Given the description of an element on the screen output the (x, y) to click on. 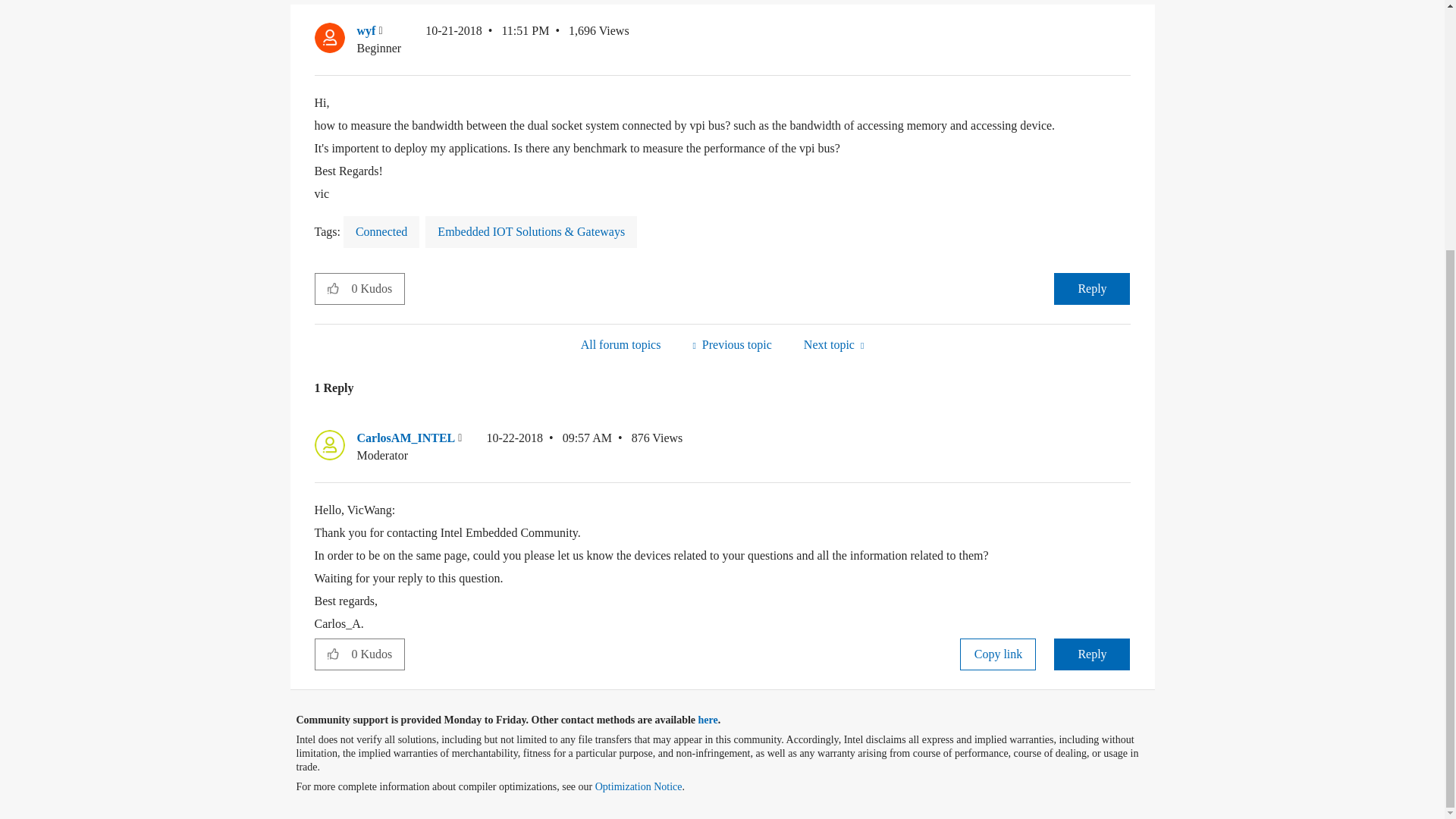
Click here to give kudos to this post. (332, 287)
UART is through PCIe ? (731, 344)
The total number of kudos this post has received. (377, 288)
Posted on (548, 446)
Multicore problem (833, 344)
Posted on (486, 39)
wyf (328, 37)
The total number of kudos this post has received. (377, 654)
